Given the description of an element on the screen output the (x, y) to click on. 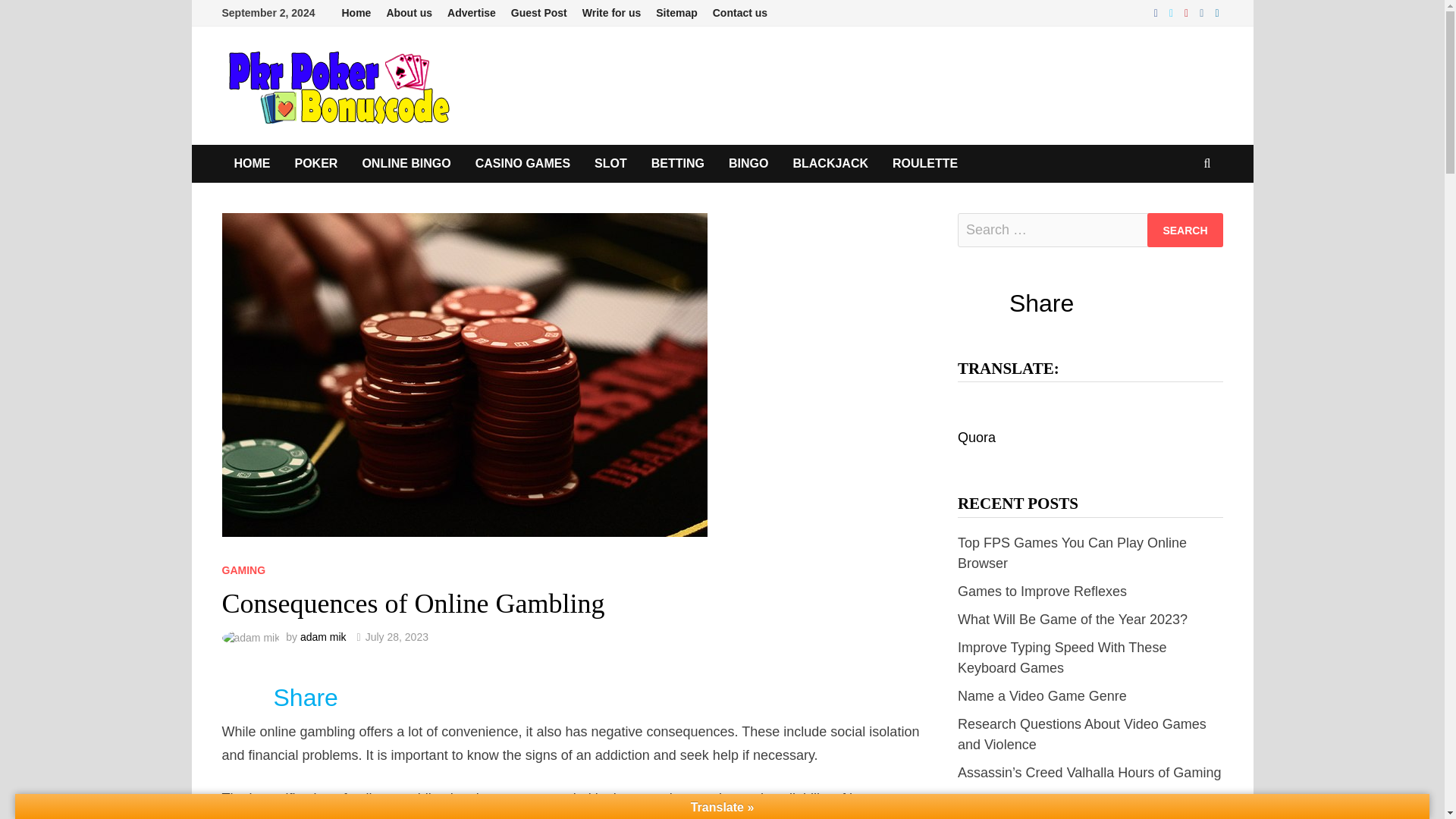
Search (1185, 229)
BINGO (748, 163)
BLACKJACK (830, 163)
CASINO GAMES (522, 163)
ROULETTE (924, 163)
adam mik (322, 636)
Twitter (1173, 11)
About us (408, 13)
Search (1185, 229)
Home (355, 13)
